Given the description of an element on the screen output the (x, y) to click on. 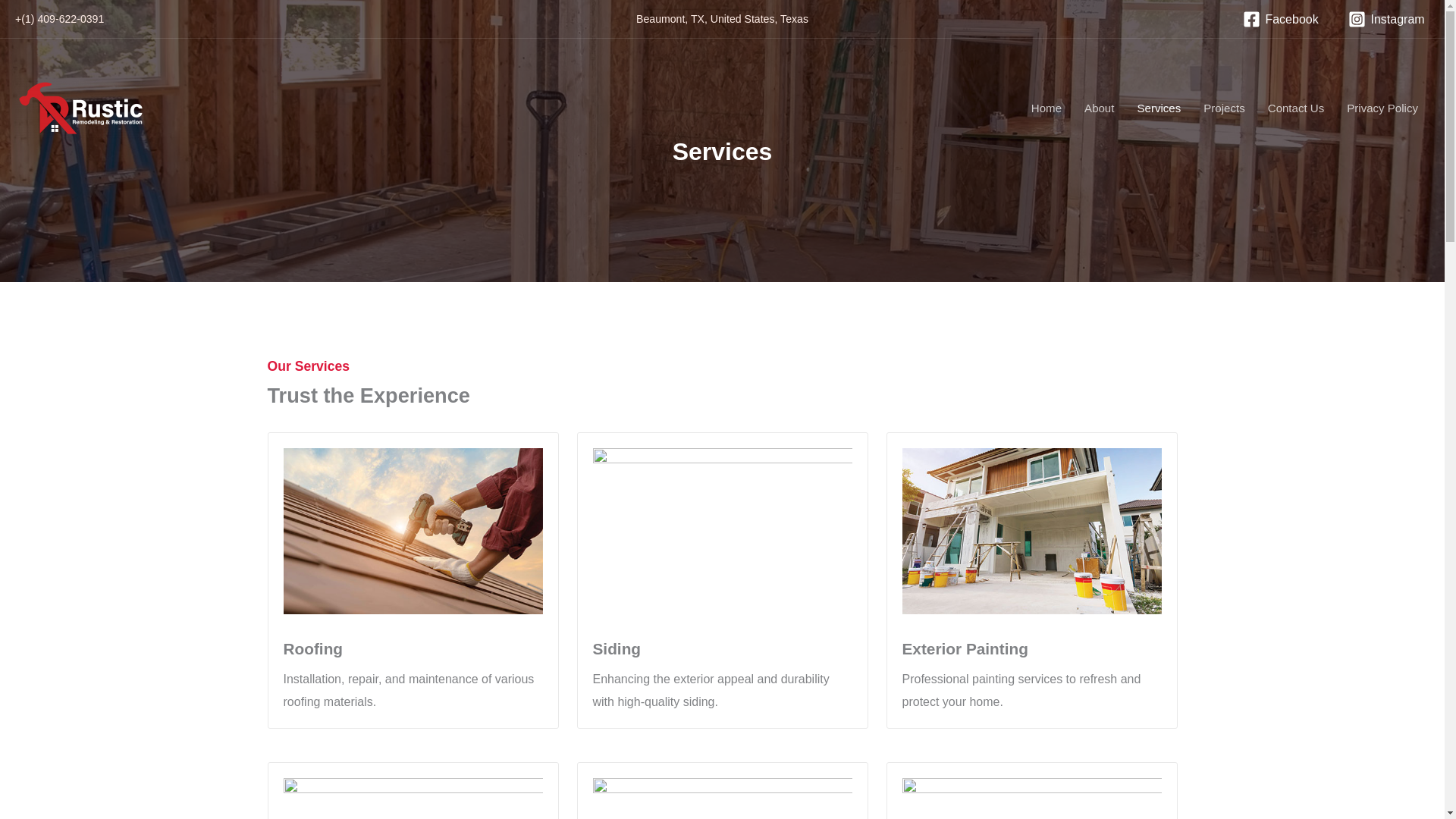
Facebook (1281, 18)
Instagram (1386, 18)
